Given the description of an element on the screen output the (x, y) to click on. 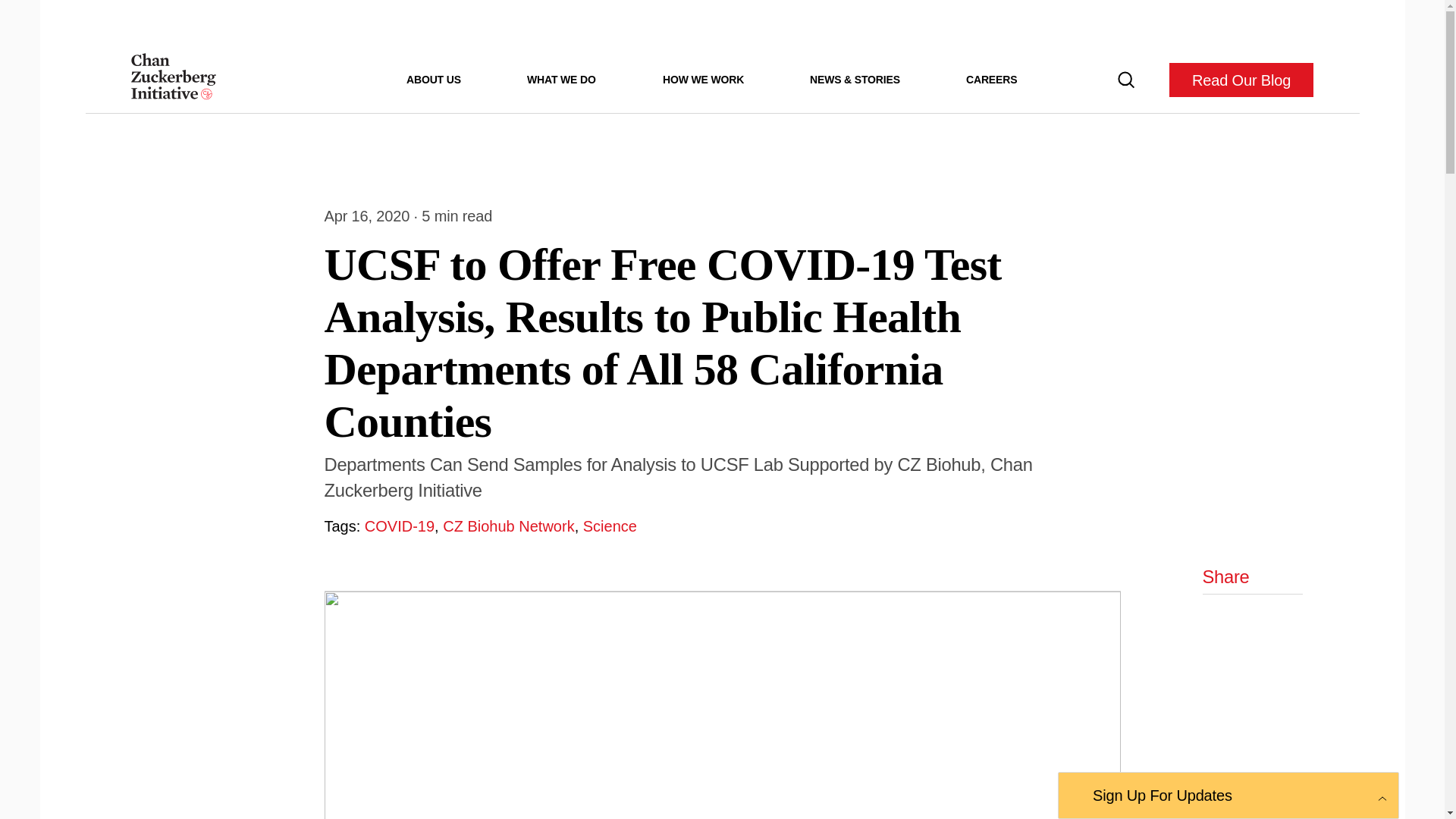
ABOUT US (433, 78)
New Homepage (173, 79)
HOW WE WORK (703, 78)
WHAT WE DO (561, 78)
